Given the description of an element on the screen output the (x, y) to click on. 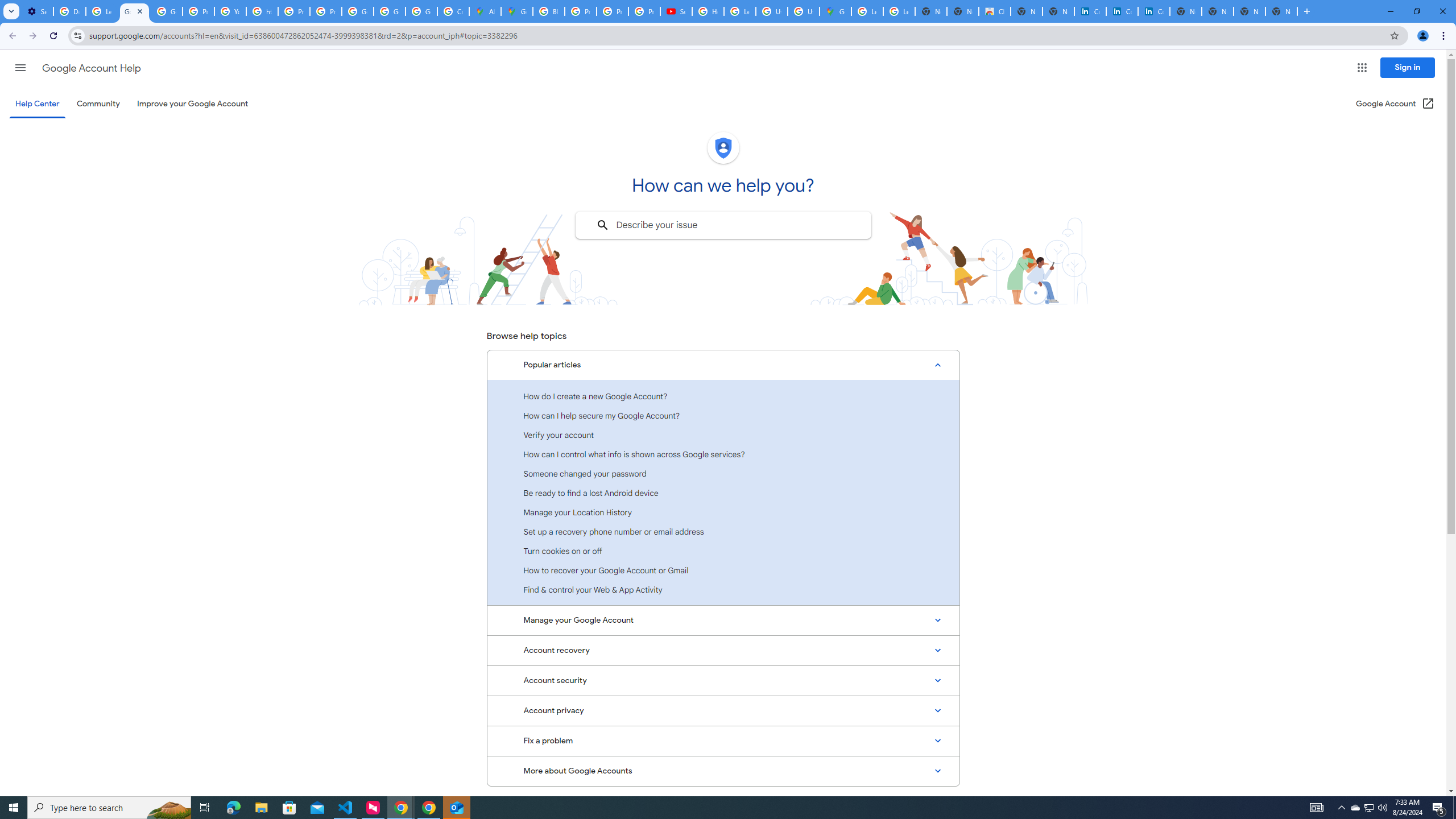
Cookie Policy | LinkedIn (1121, 11)
Google Account (Open in a new window) (1395, 103)
Google Maps (517, 11)
Manage your Location History (722, 512)
Google Account Help (91, 68)
Privacy Help Center - Policies Help (198, 11)
Account privacy (722, 710)
Account recovery (722, 650)
Google Account Help (134, 11)
